Given the description of an element on the screen output the (x, y) to click on. 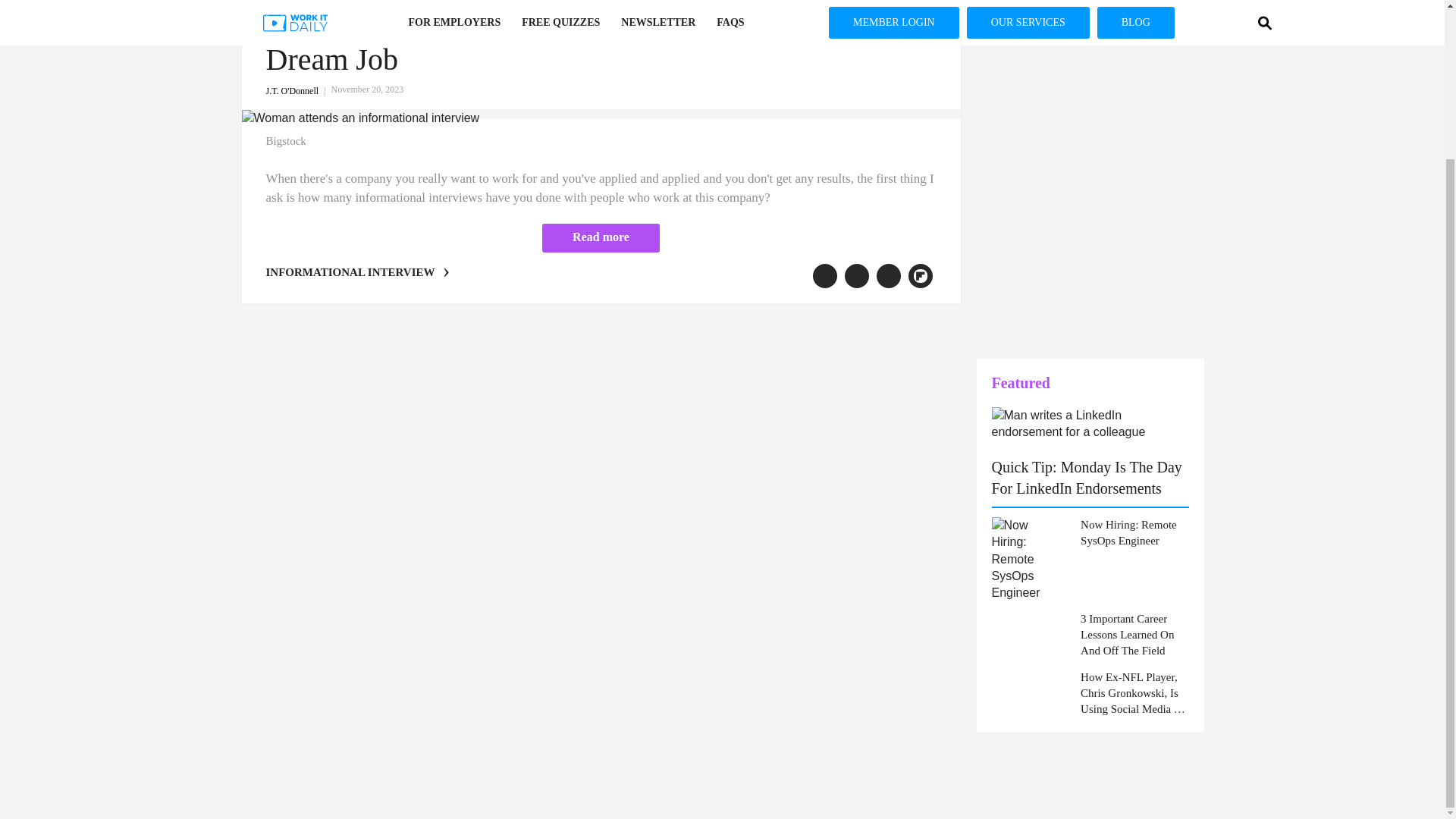
3 Important Career Lessons Learned On And Off The Field (1134, 634)
INFORMATIONAL INTERVIEW (348, 272)
Quick Tip: Monday Is The Day For LinkedIn Endorsements (1086, 477)
Now Hiring: Remote SysOps Engineer (1134, 532)
J.T. O'Donnell (297, 90)
How To Use Informational Interviews To Land Your Dream Job (582, 40)
